Given the description of an element on the screen output the (x, y) to click on. 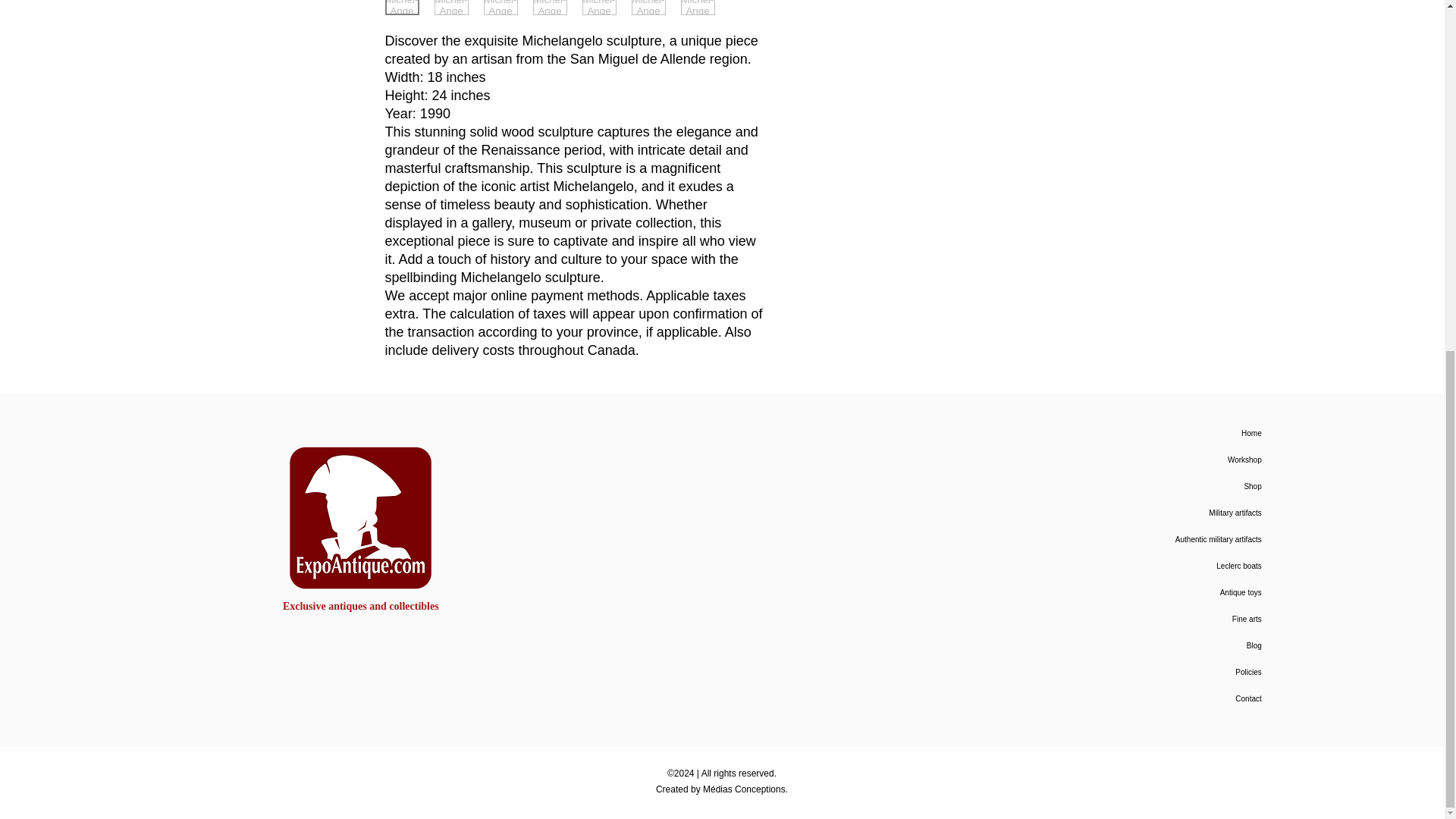
Home (1145, 433)
Contact (1145, 698)
Fine arts (1145, 619)
Shop (1145, 486)
Policies (1145, 672)
Authentic military artifacts (1145, 539)
Military artifacts (1145, 512)
Workshop (1145, 459)
Antique toys (1145, 592)
Leclerc boats (1145, 565)
